Given the description of an element on the screen output the (x, y) to click on. 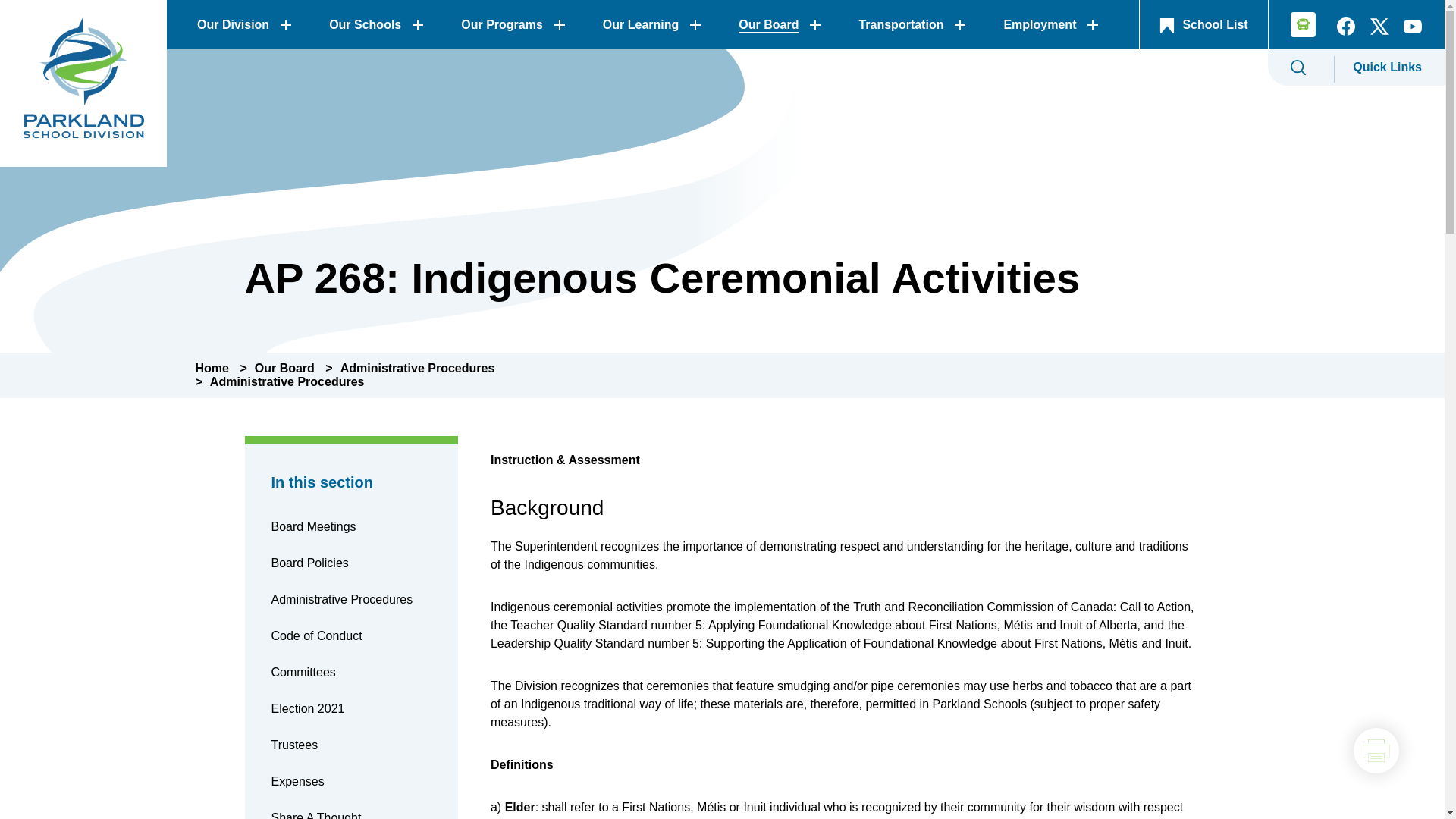
Facebook (1345, 30)
Parkland School Division (83, 83)
Twitter (1379, 30)
Bus Status (1298, 27)
Youtube (1412, 30)
